Given the description of an element on the screen output the (x, y) to click on. 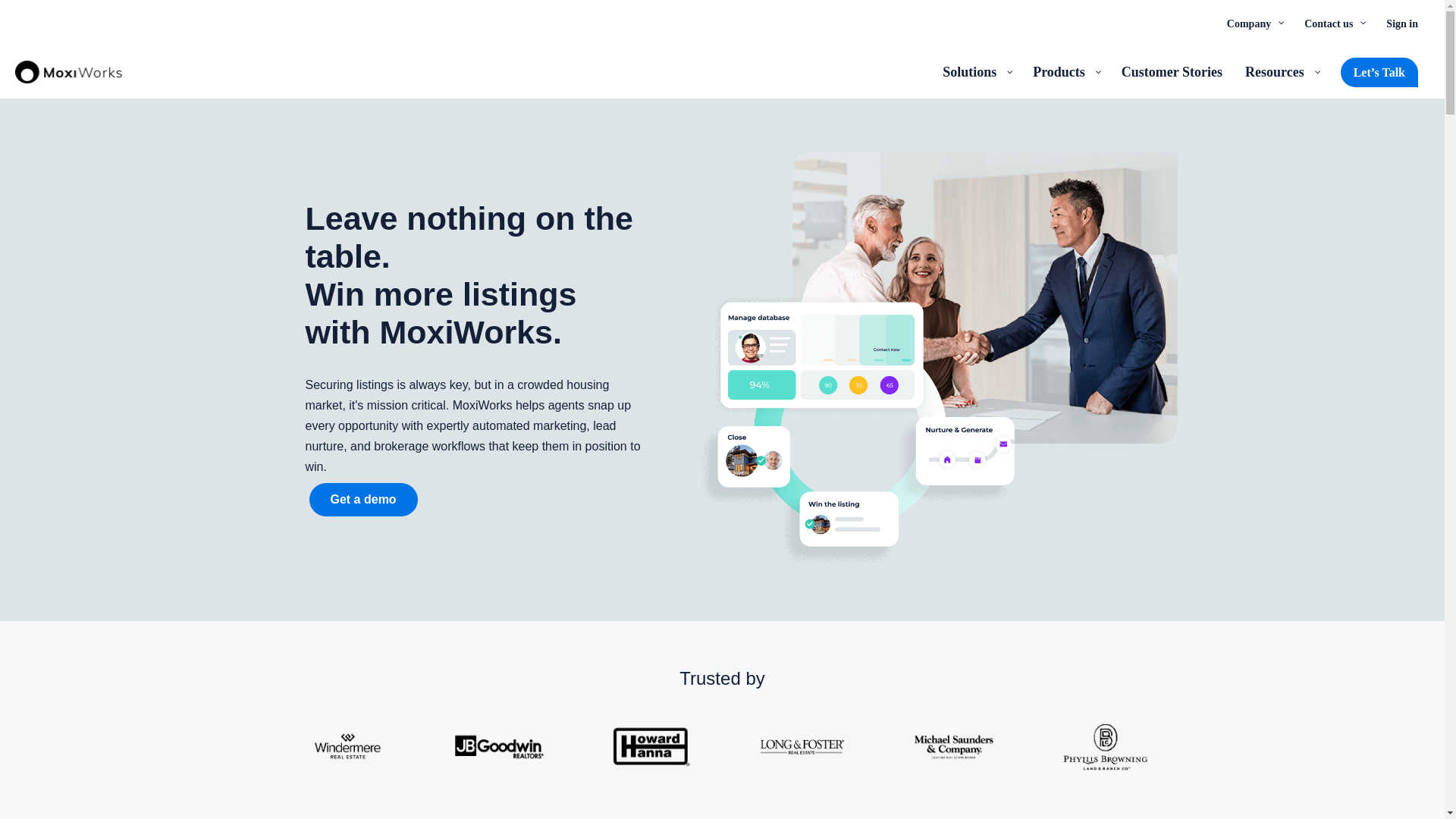
Solutions (976, 72)
Products (1065, 72)
Contact us (1333, 22)
Sign in (1401, 22)
Company (1253, 22)
